Given the description of an element on the screen output the (x, y) to click on. 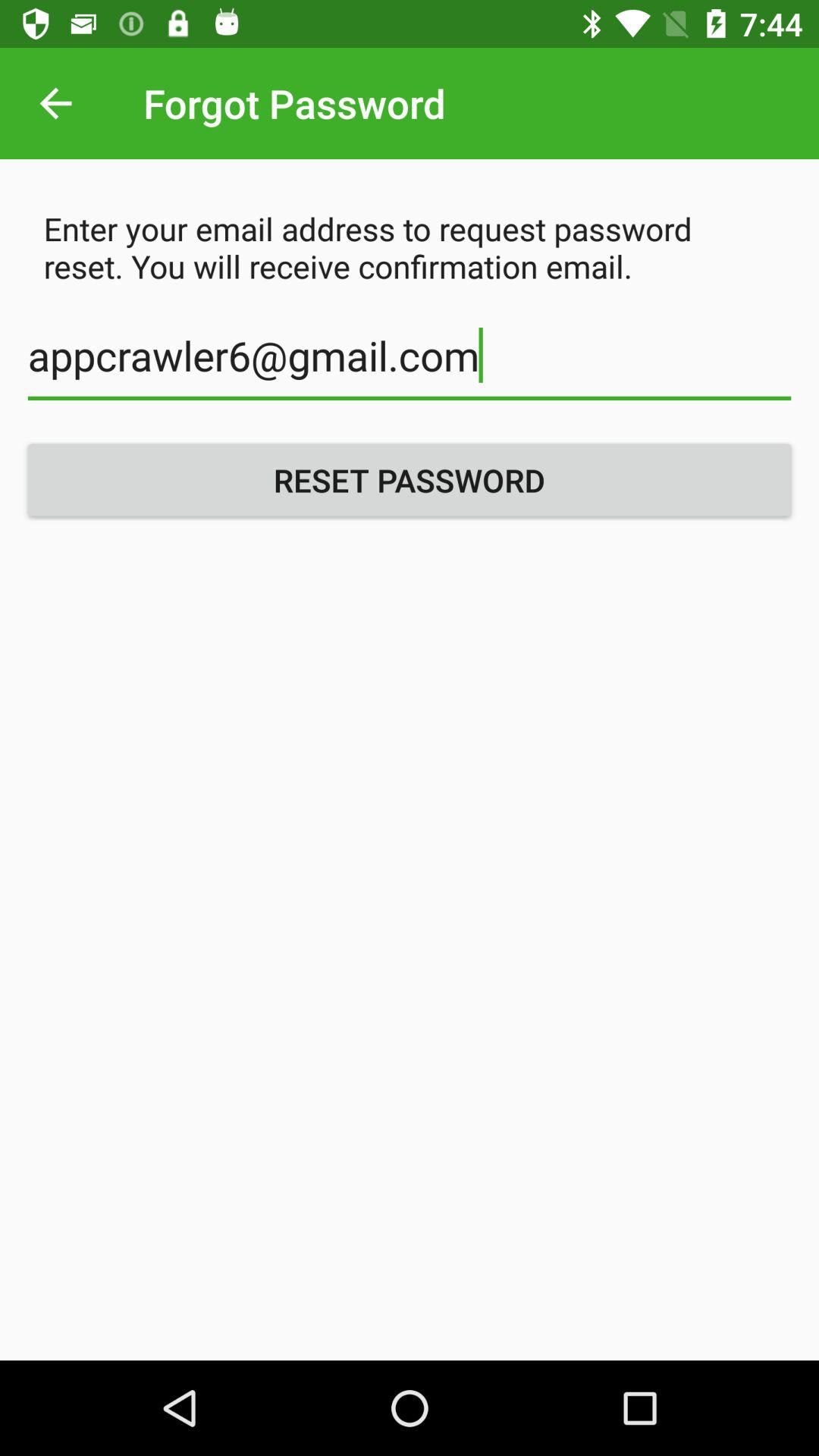
press the icon at the top left corner (55, 103)
